Given the description of an element on the screen output the (x, y) to click on. 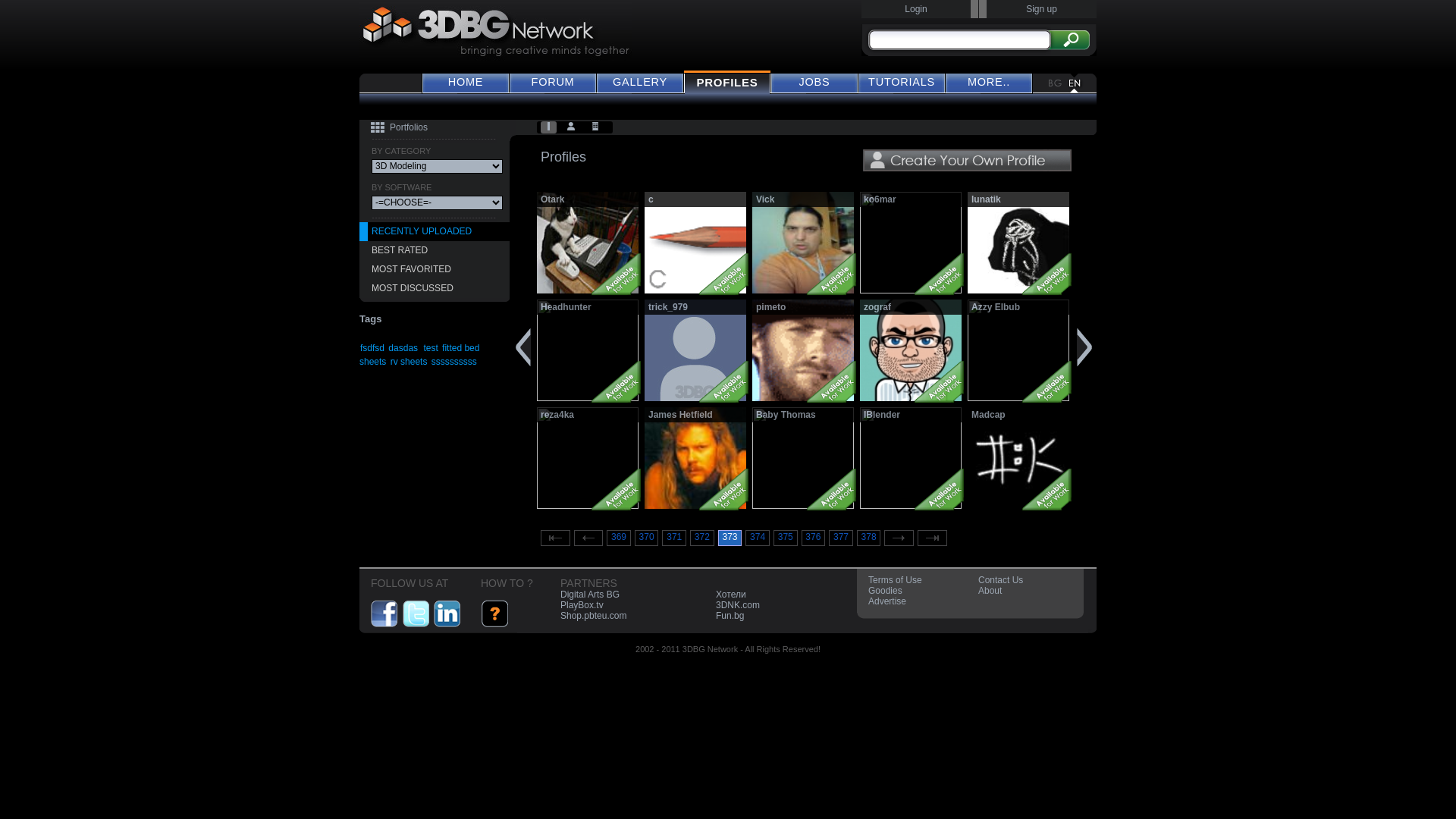
PlayBox.tv Element type: text (581, 604)
All Element type: hover (550, 127)
JOBS Element type: text (814, 82)
372 Element type: text (702, 538)
dasdas Element type: text (402, 348)
  Element type: text (802, 242)
ssssssssss Element type: text (453, 361)
GALLERY Element type: text (639, 82)
3DNK.com Element type: text (737, 604)
PROFILES Element type: text (727, 82)
Shop.pbteu.com Element type: text (593, 615)
  Element type: text (802, 350)
BEST RATED Element type: text (434, 250)
Fun.bg Element type: text (729, 615)
  Element type: text (910, 457)
MOST FAVORITED Element type: text (434, 269)
About Element type: text (989, 590)
Sign up Element type: text (1041, 8)
  Element type: text (695, 242)
370 Element type: text (646, 538)
376 Element type: text (813, 538)
MORE.. Element type: text (988, 82)
RECENTLY UPLOADED Element type: text (434, 231)
Contact Us Element type: text (1000, 579)
Goodies Element type: text (885, 590)
fsdfsd Element type: text (372, 348)
  Element type: text (910, 242)
  Element type: text (1018, 350)
FORUM Element type: text (552, 82)
    Element type: text (550, 127)
Login Element type: text (915, 8)
    Element type: text (572, 127)
HOME Element type: text (465, 82)
rv sheets Element type: text (408, 361)
MOST DISCUSSED Element type: text (434, 288)
369 Element type: text (618, 538)
test Element type: text (430, 348)
Advertise Element type: text (887, 601)
  Element type: text (587, 242)
  Element type: text (587, 457)
  Element type: text (802, 457)
fitted bed sheets Element type: text (419, 354)
375 Element type: text (785, 538)
374 Element type: text (757, 538)
  Element type: text (587, 350)
  Element type: text (1018, 457)
378 Element type: text (868, 538)
  Element type: text (1018, 242)
Digital Arts BG Element type: text (589, 594)
371 Element type: text (674, 538)
Terms of Use Element type: text (895, 579)
    Element type: text (596, 127)
  Element type: text (910, 350)
TUTORIALS Element type: text (901, 82)
377 Element type: text (840, 538)
  Element type: text (695, 457)
  Element type: text (695, 350)
